Given the description of an element on the screen output the (x, y) to click on. 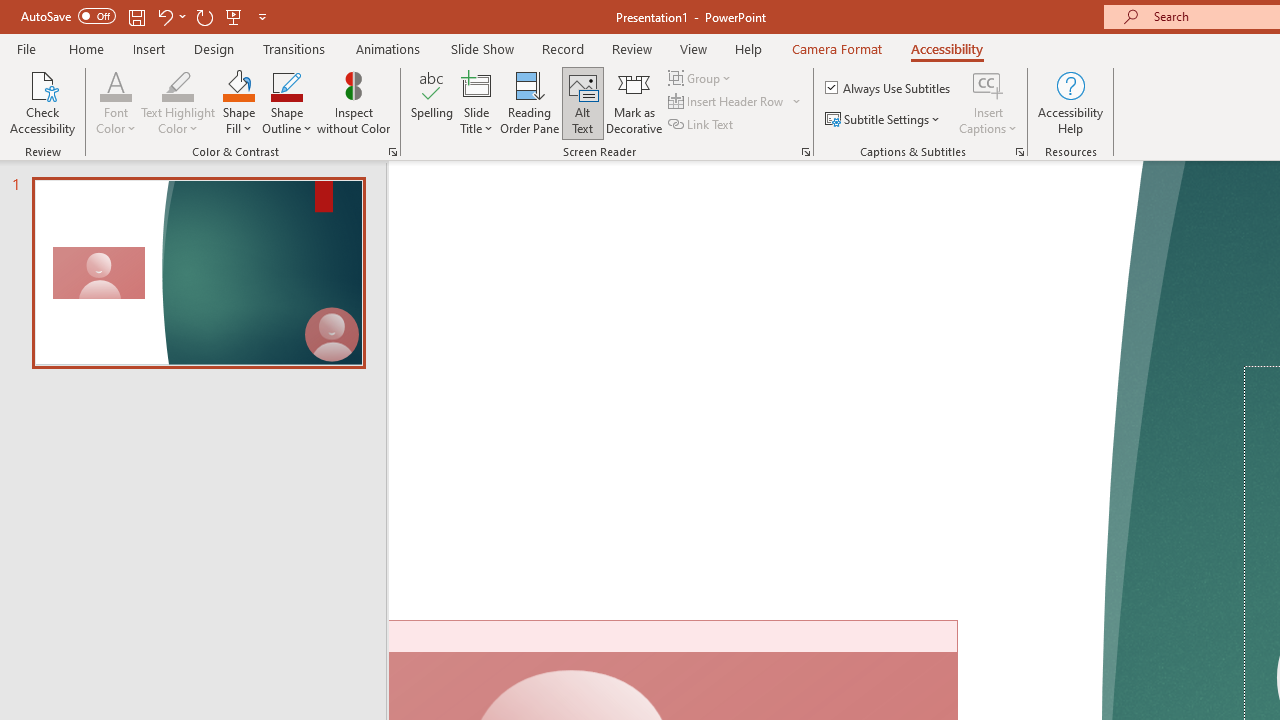
Always Use Subtitles (889, 87)
Insert Header Row (727, 101)
Slide Title (476, 102)
